Given the description of an element on the screen output the (x, y) to click on. 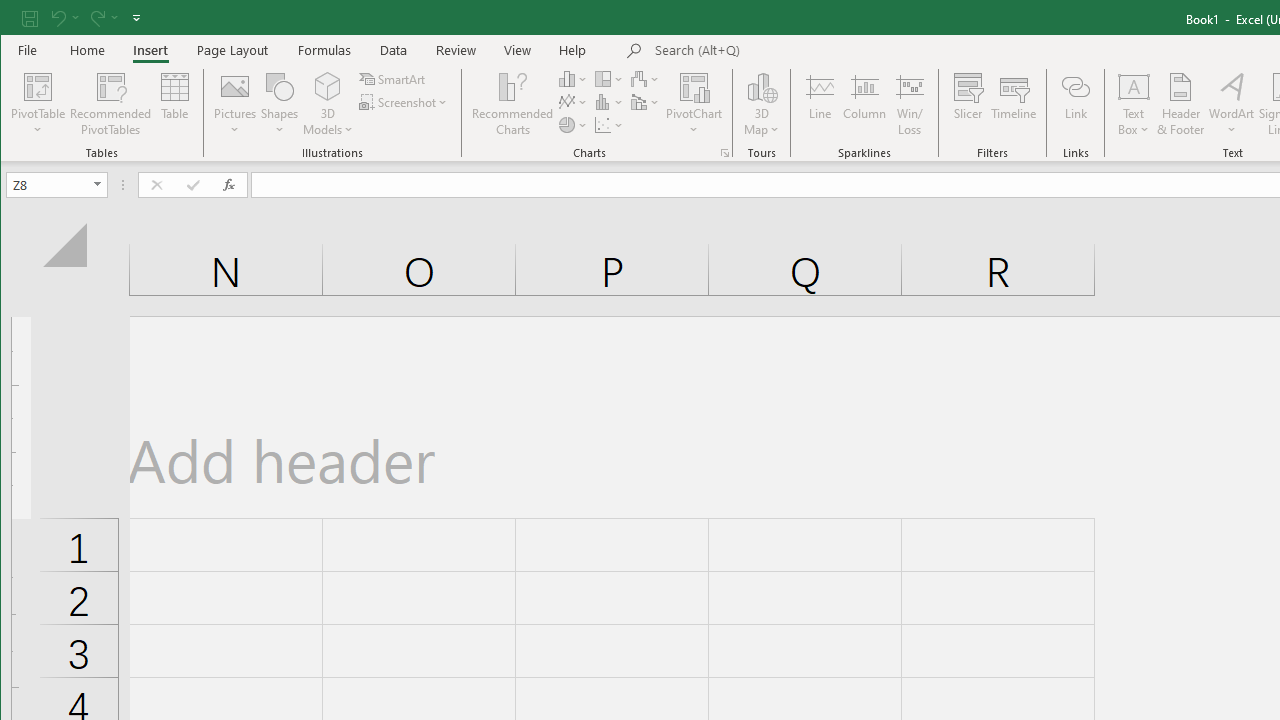
SmartArt... (393, 78)
Screenshot (404, 101)
Timeline (1014, 104)
PivotTable (37, 104)
Header & Footer... (1180, 104)
PivotChart (694, 104)
Link (1075, 104)
Insert Line or Area Chart (573, 101)
